Given the description of an element on the screen output the (x, y) to click on. 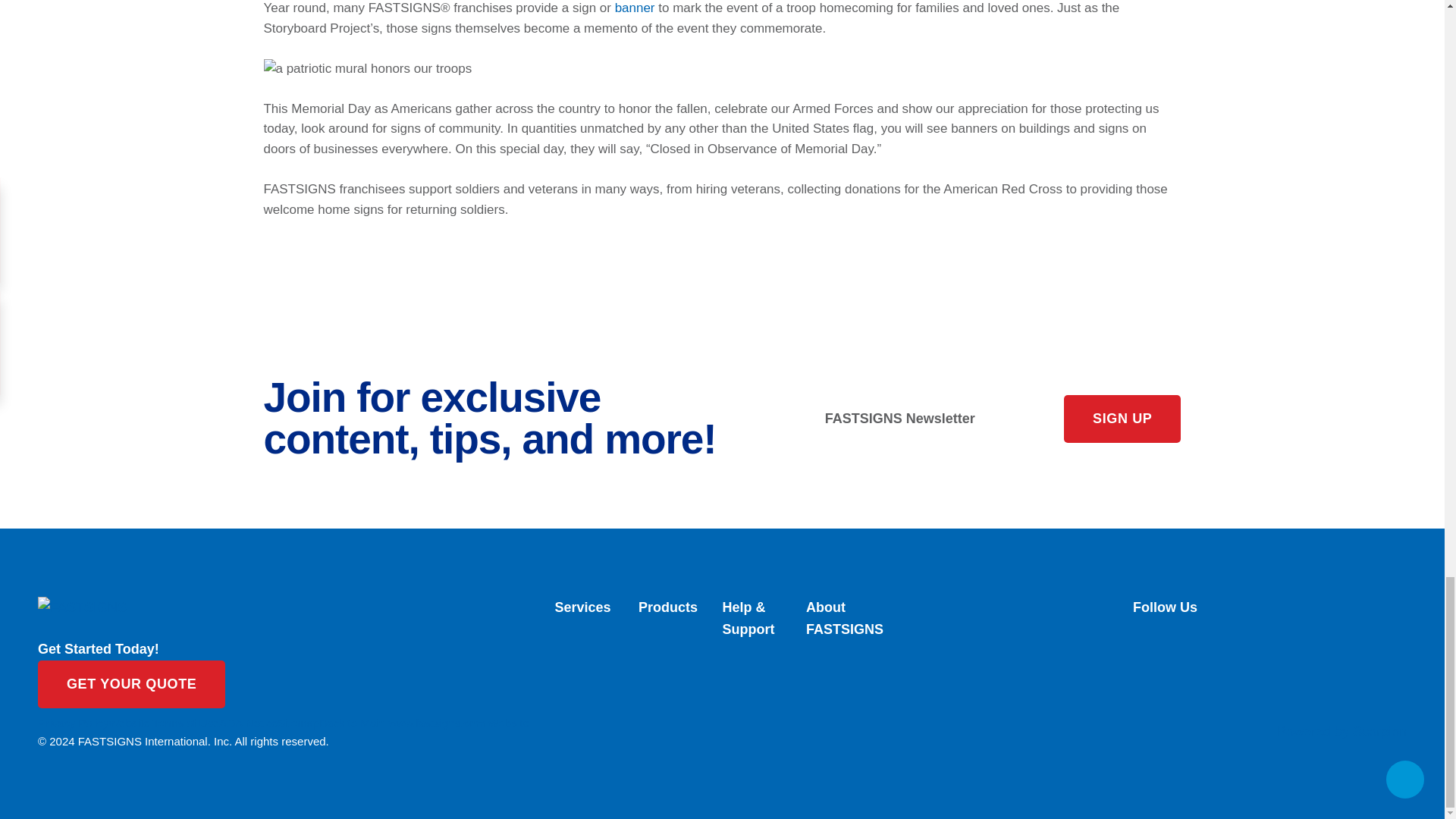
Instagram (1269, 666)
Pinterest (1269, 680)
YouTube (1269, 694)
LinkedIn (1269, 653)
Facebook (1269, 625)
Twitter (1269, 639)
Career Link (1269, 707)
